Given the description of an element on the screen output the (x, y) to click on. 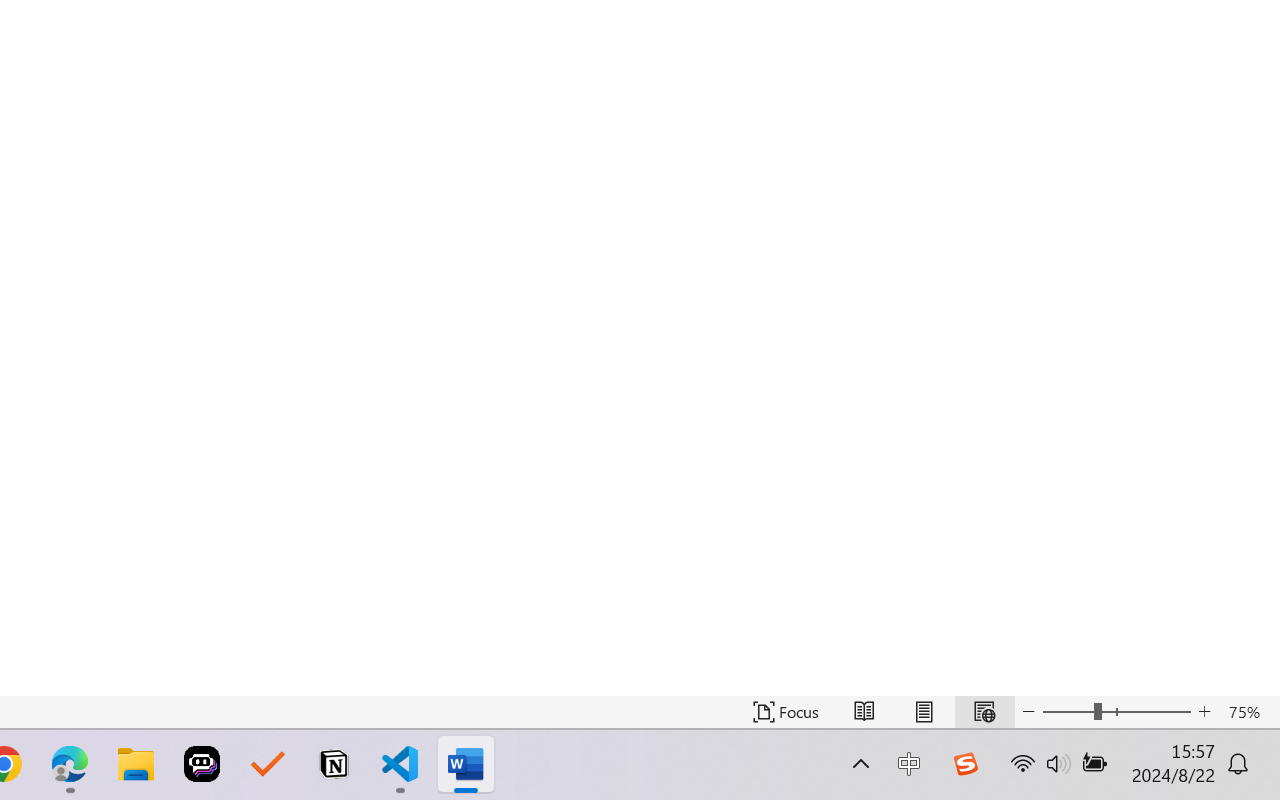
Focus  (786, 712)
Print Layout (924, 712)
Zoom 75% (1249, 712)
Read Mode (864, 712)
Zoom Out (1067, 712)
Zoom In (1204, 712)
Class: Image (965, 764)
Web Layout (984, 712)
Zoom (1116, 712)
